Given the description of an element on the screen output the (x, y) to click on. 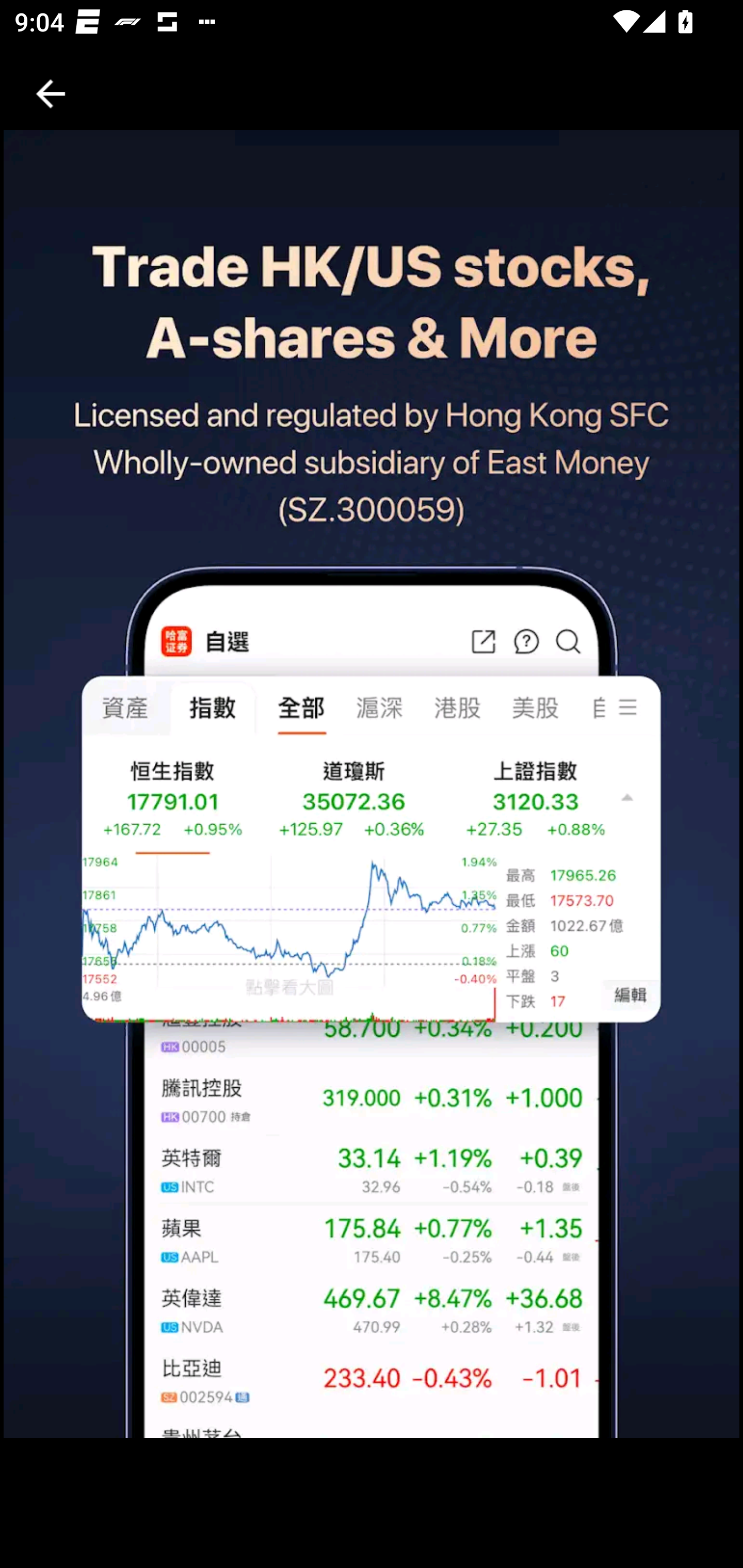
Back (50, 93)
